Given the description of an element on the screen output the (x, y) to click on. 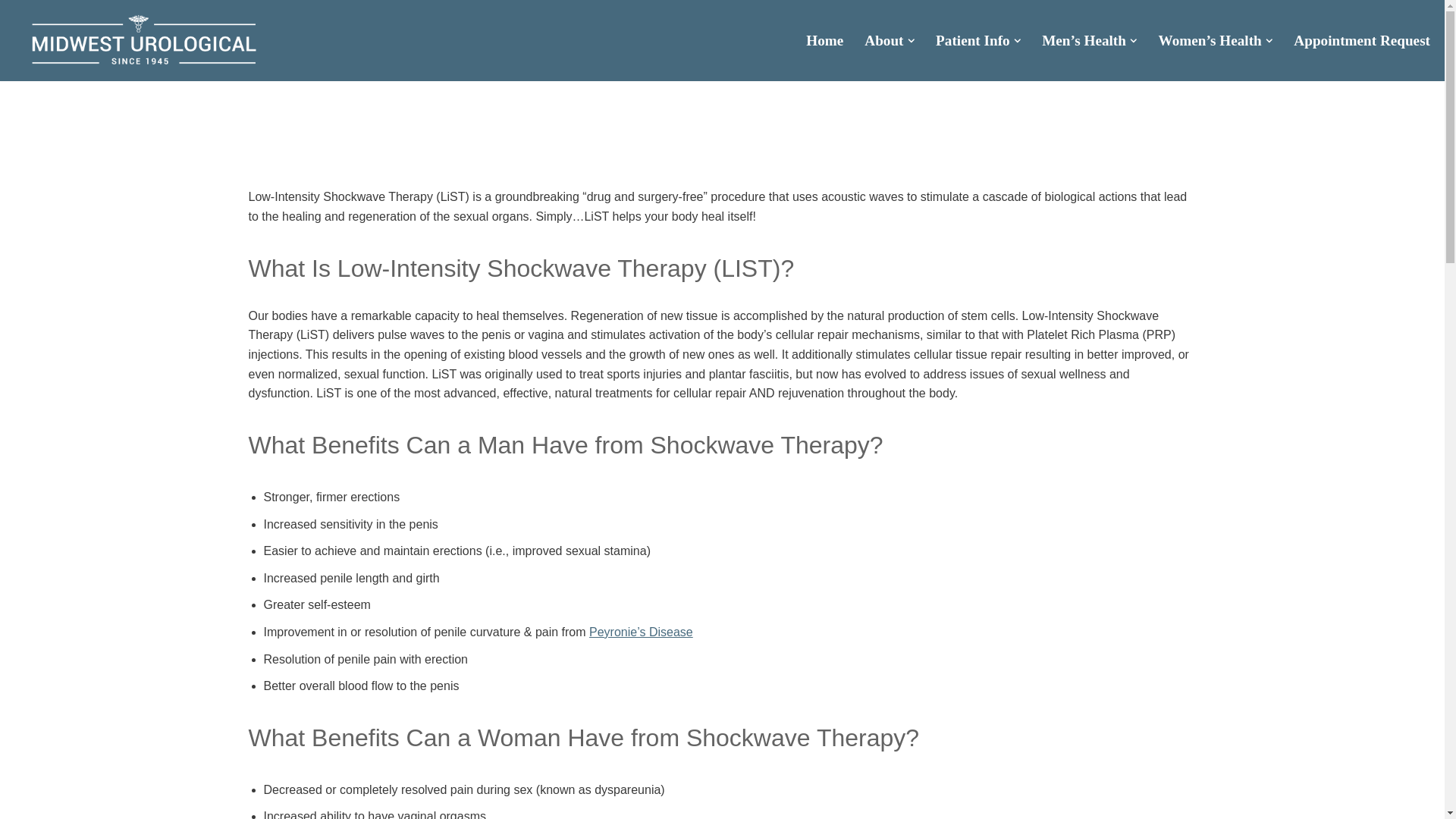
Patient Info (973, 40)
About (883, 40)
Appointment Request (1361, 40)
Home (824, 40)
Skip to content (11, 31)
